Given the description of an element on the screen output the (x, y) to click on. 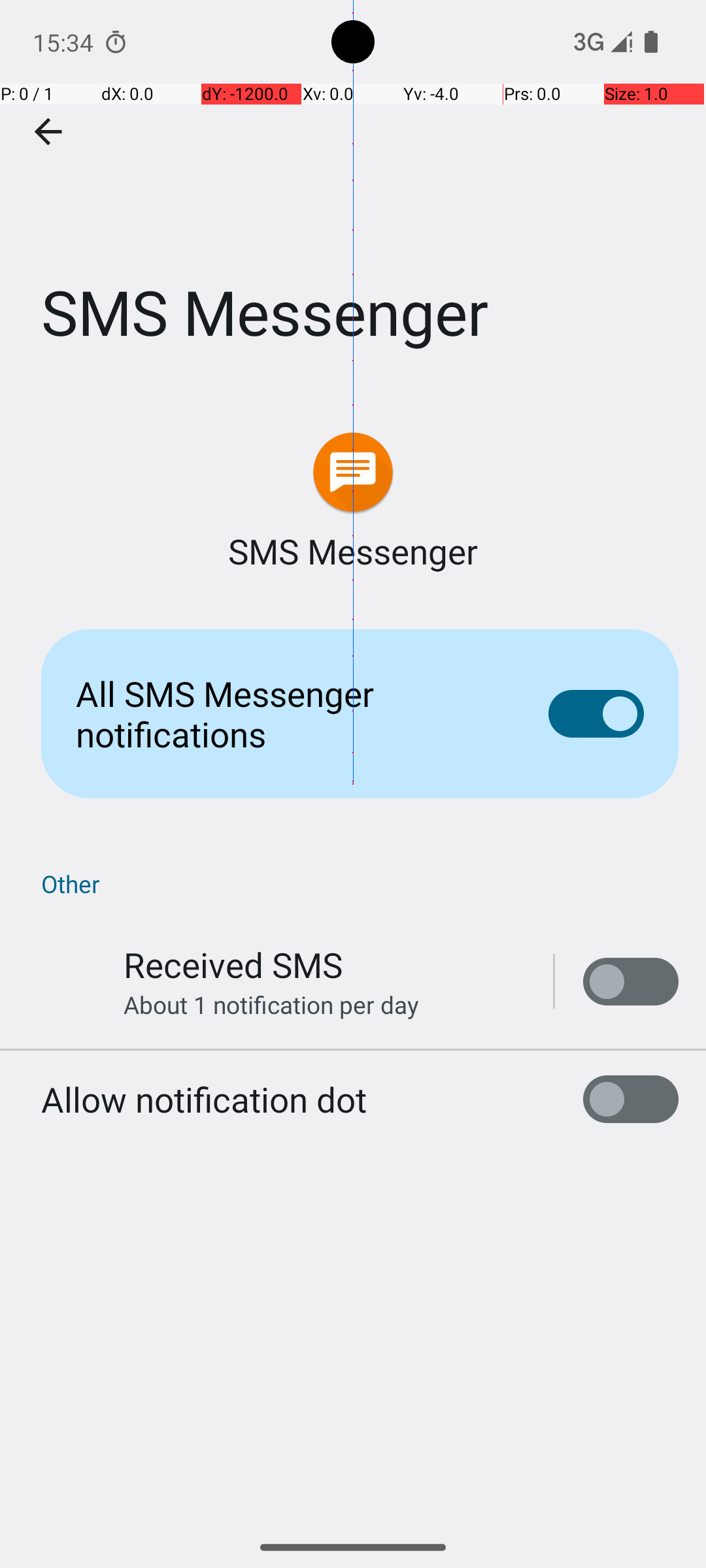
All SMS Messenger notifications Element type: android.widget.TextView (291, 713)
Received SMS Element type: android.widget.TextView (232, 964)
About 1 notification per day Element type: android.widget.TextView (271, 1004)
